Given the description of an element on the screen output the (x, y) to click on. 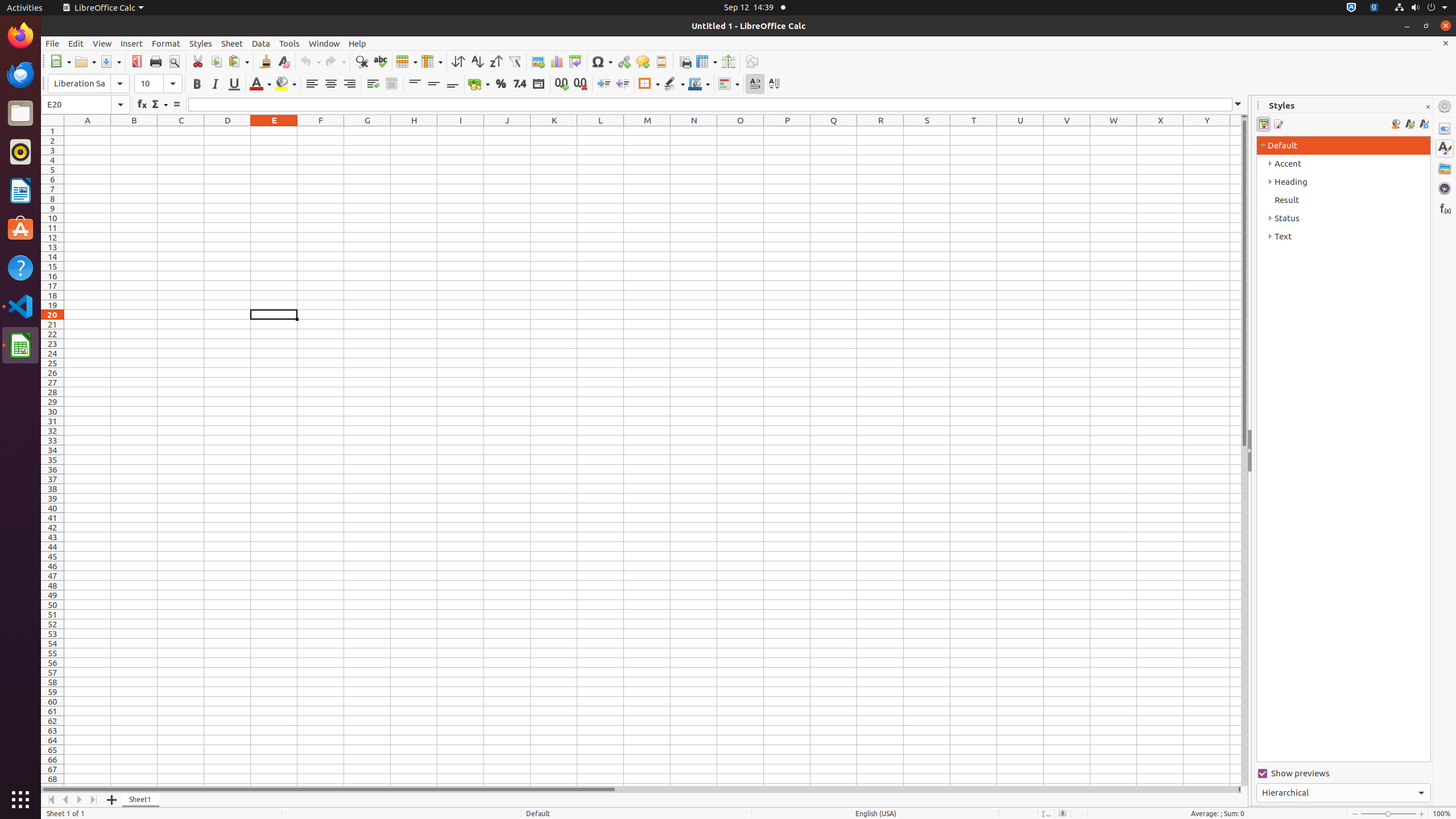
Underline Element type: push-button (233, 83)
Navigator Element type: radio-button (1444, 188)
Add Decimal Place Element type: push-button (561, 83)
D1 Element type: table-cell (227, 130)
Chart Element type: push-button (556, 61)
